Given the description of an element on the screen output the (x, y) to click on. 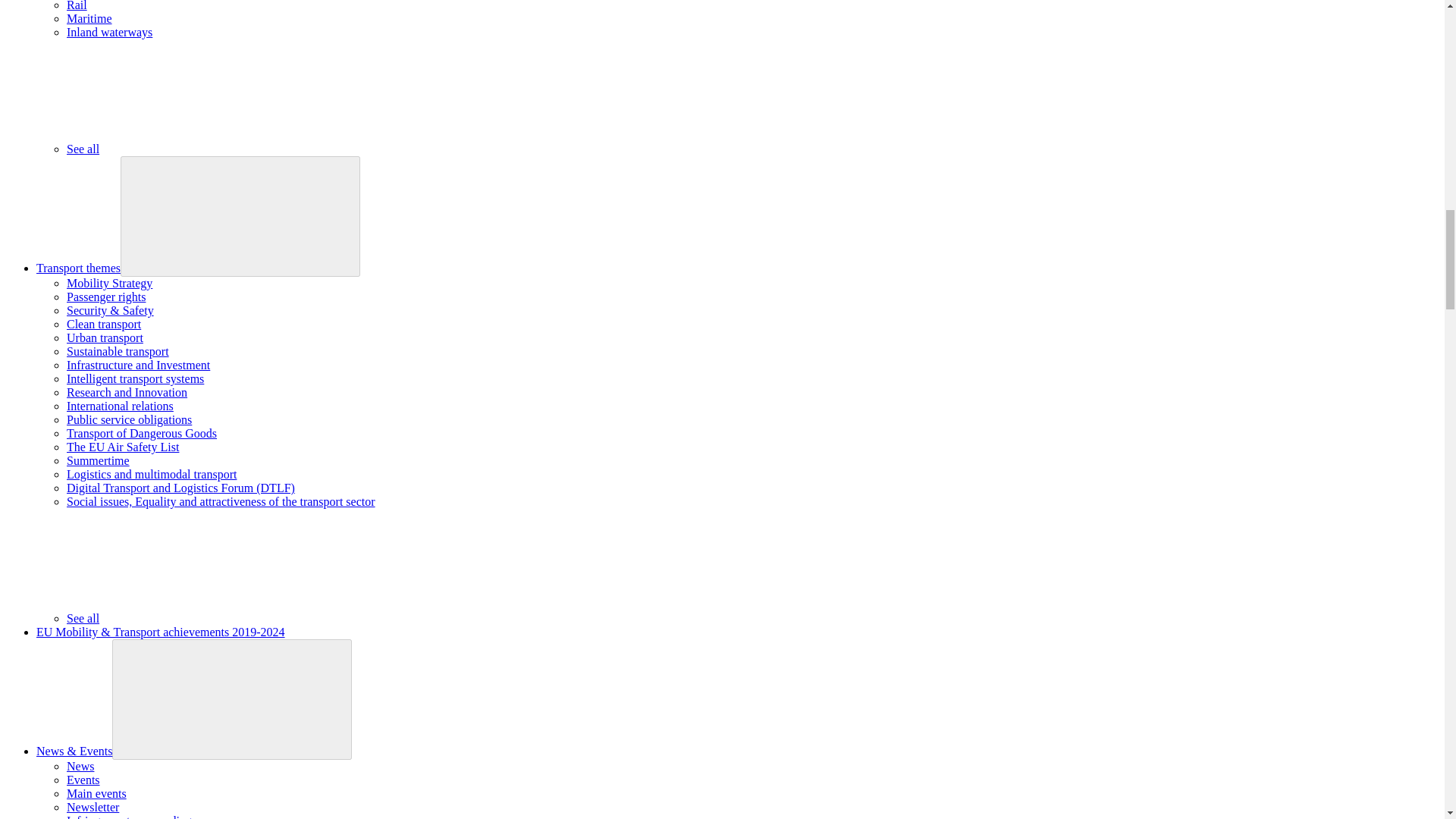
Intelligent transport systems (134, 378)
Inland waterways (109, 31)
Infrastructure and Investment (137, 364)
Mobility Strategy (109, 282)
Rail (76, 5)
Transport themes (78, 267)
Research and Innovation (126, 391)
See all (196, 148)
Urban transport (104, 337)
Clean transport (103, 323)
Sustainable transport (117, 350)
International relations (119, 405)
Maritime (89, 18)
Passenger rights (105, 296)
Public service obligations (129, 419)
